Given the description of an element on the screen output the (x, y) to click on. 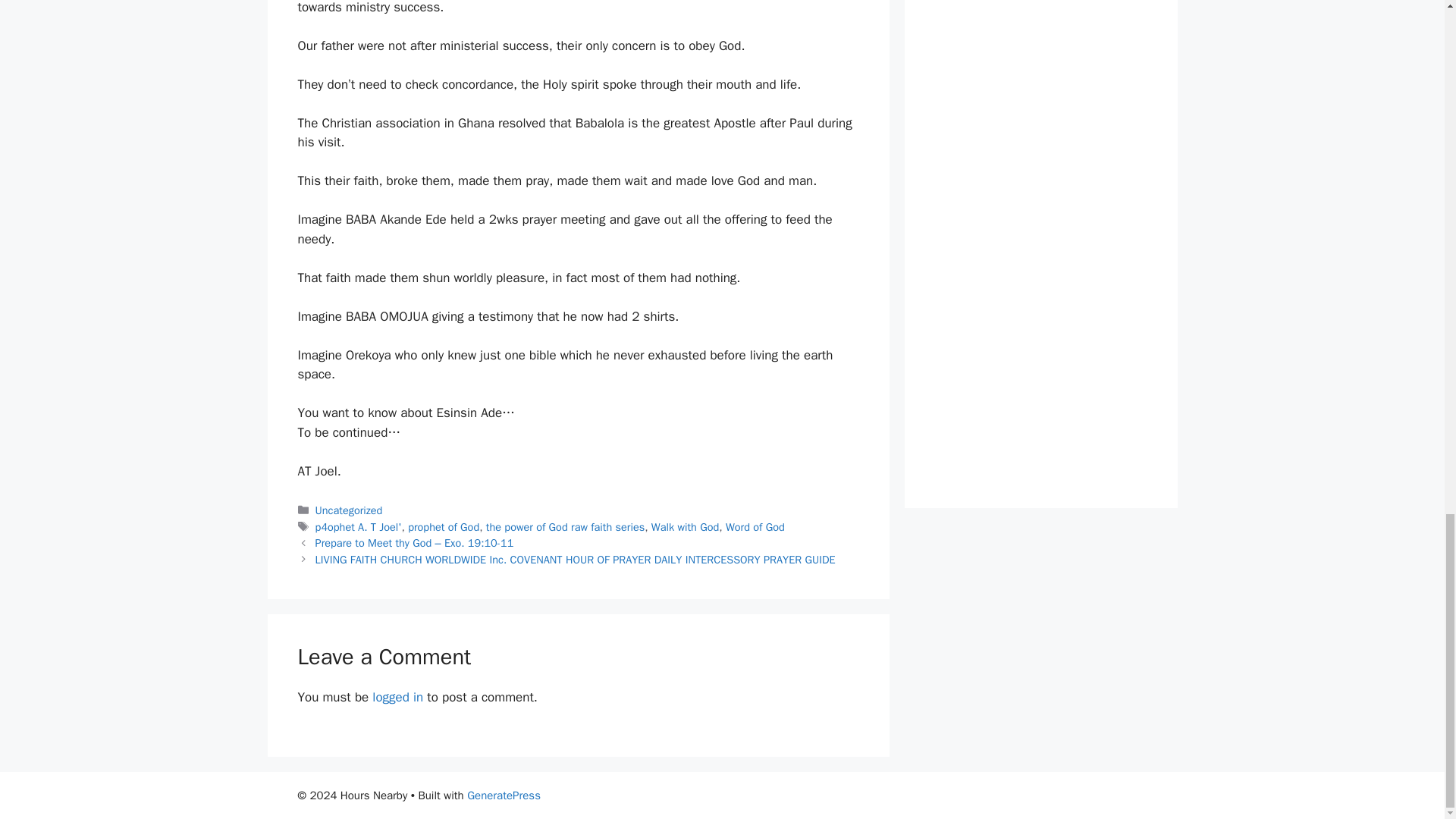
prophet of God (443, 526)
Word of God (754, 526)
p4ophet A. T Joel' (358, 526)
the power of God raw faith series (565, 526)
Uncategorized (348, 509)
Walk with God (684, 526)
